Given the description of an element on the screen output the (x, y) to click on. 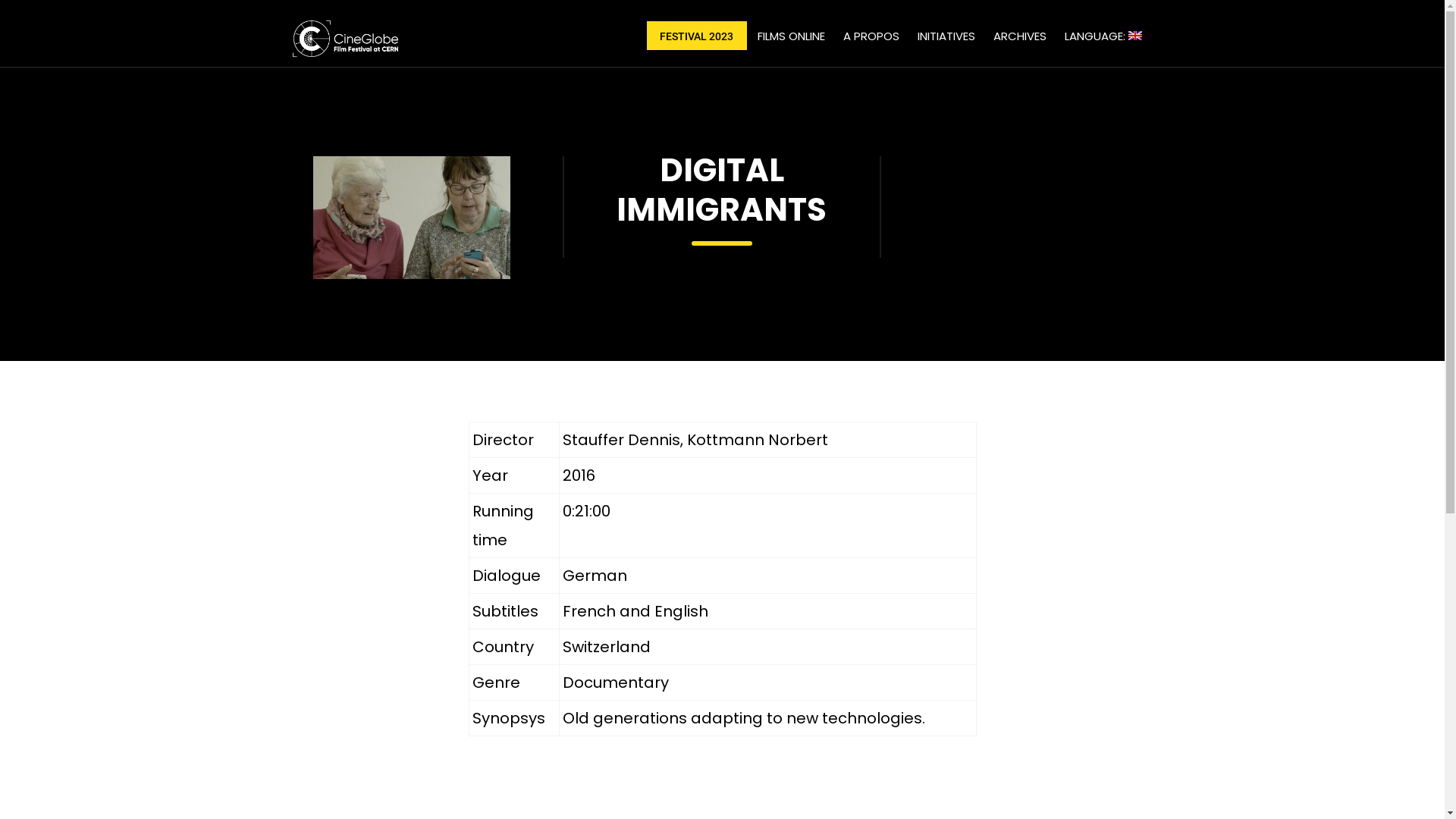
LANGUAGE:  Element type: text (1103, 35)
A PROPOS Element type: text (870, 35)
FILMS ONLINE Element type: text (790, 35)
ARCHIVES Element type: text (1019, 35)
FESTIVAL 2023 Element type: text (696, 35)
INITIATIVES Element type: text (946, 35)
